Given the description of an element on the screen output the (x, y) to click on. 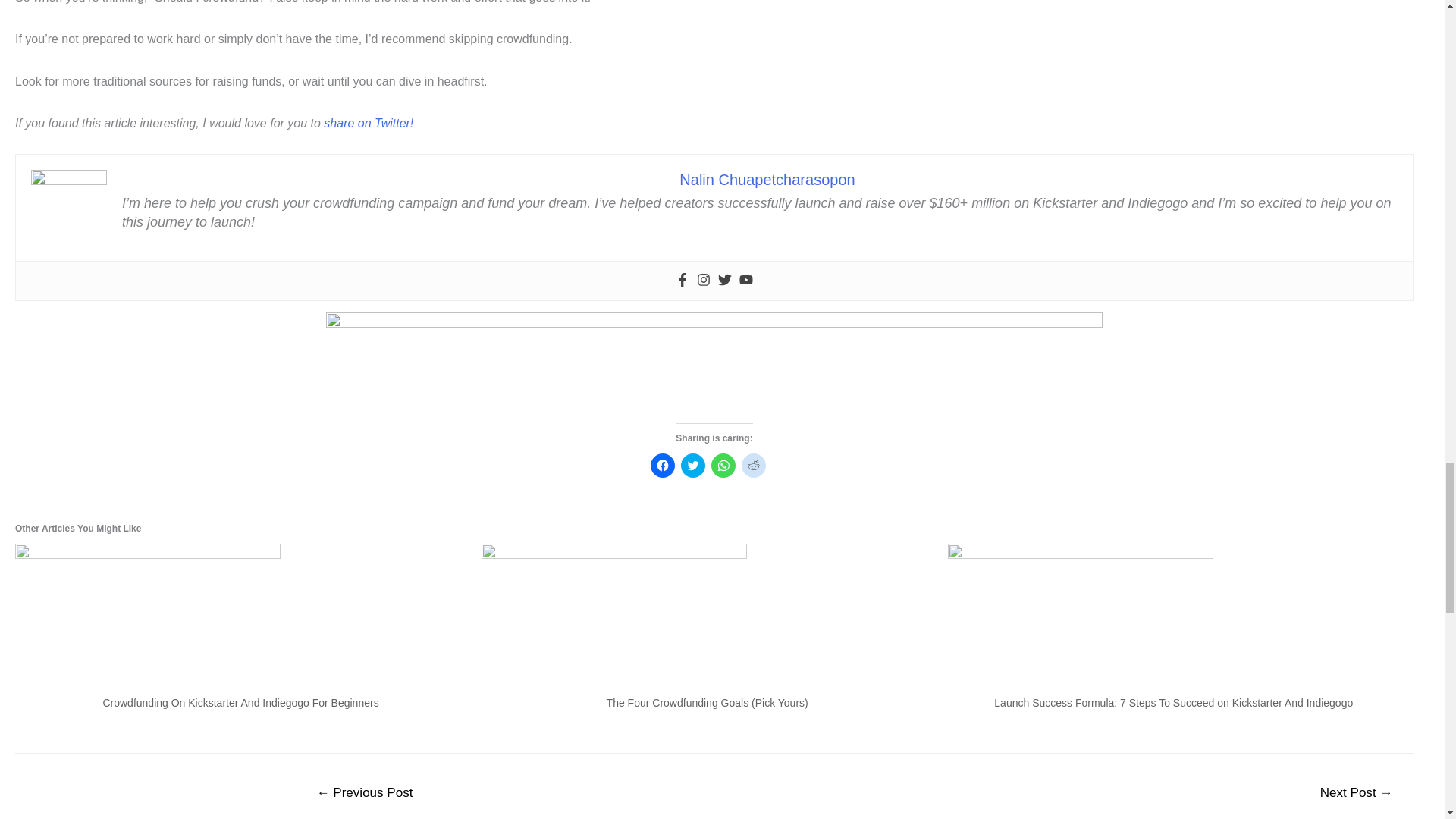
Click to share on Reddit (753, 465)
Click to share on Facebook (662, 465)
Crowdfunding On Kickstarter And Indiegogo For Beginners (239, 702)
Nalin Chuapetcharasopon (766, 179)
share on Twitter! (368, 123)
Click to share on Twitter (692, 465)
Crowdfunding On Kickstarter And Indiegogo For Beginners (239, 619)
Click to share on WhatsApp (723, 465)
Crowdfunding On Kickstarter And Indiegogo For Beginners (239, 702)
